Given the description of an element on the screen output the (x, y) to click on. 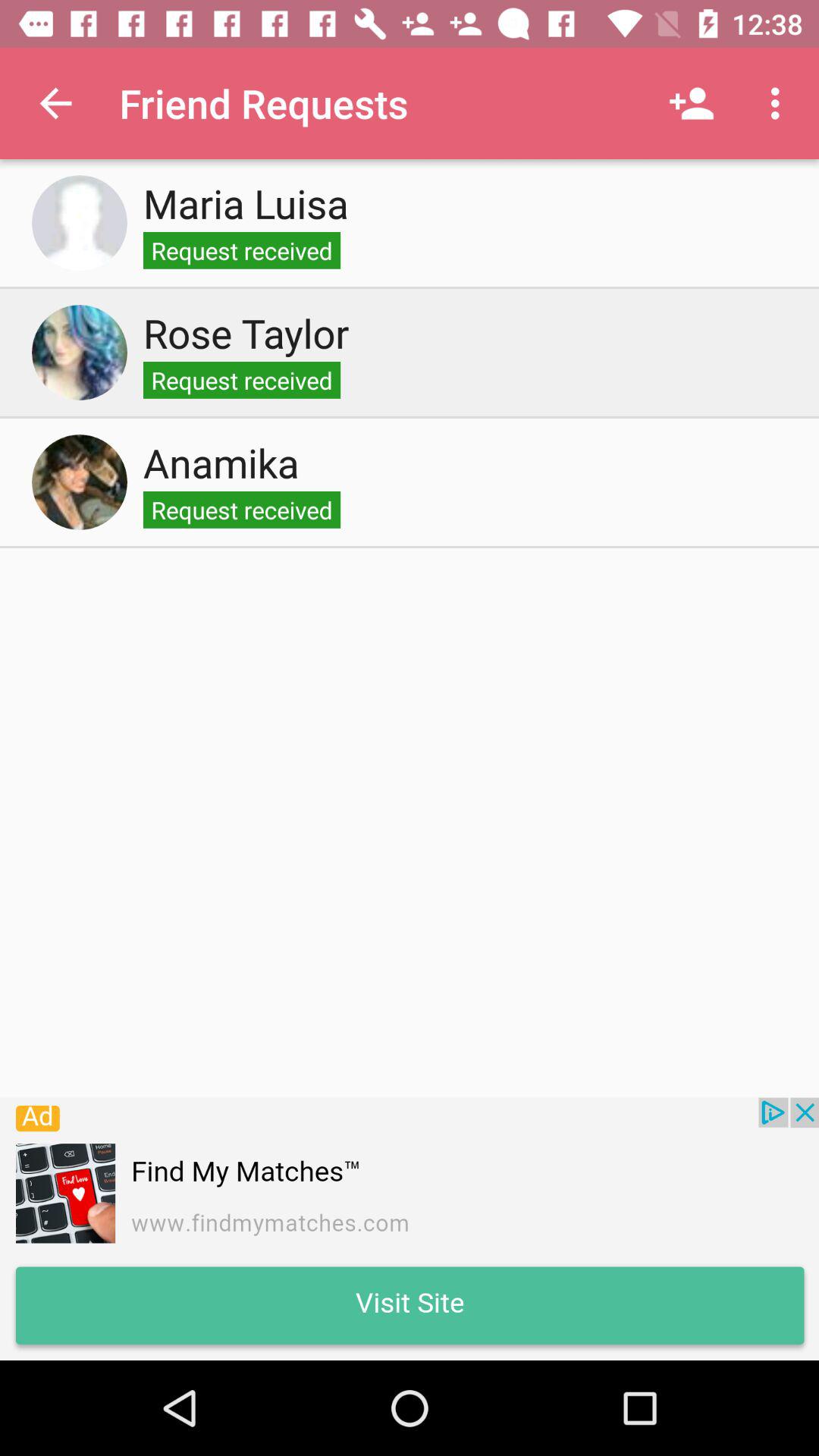
open advertisement (409, 1228)
